Given the description of an element on the screen output the (x, y) to click on. 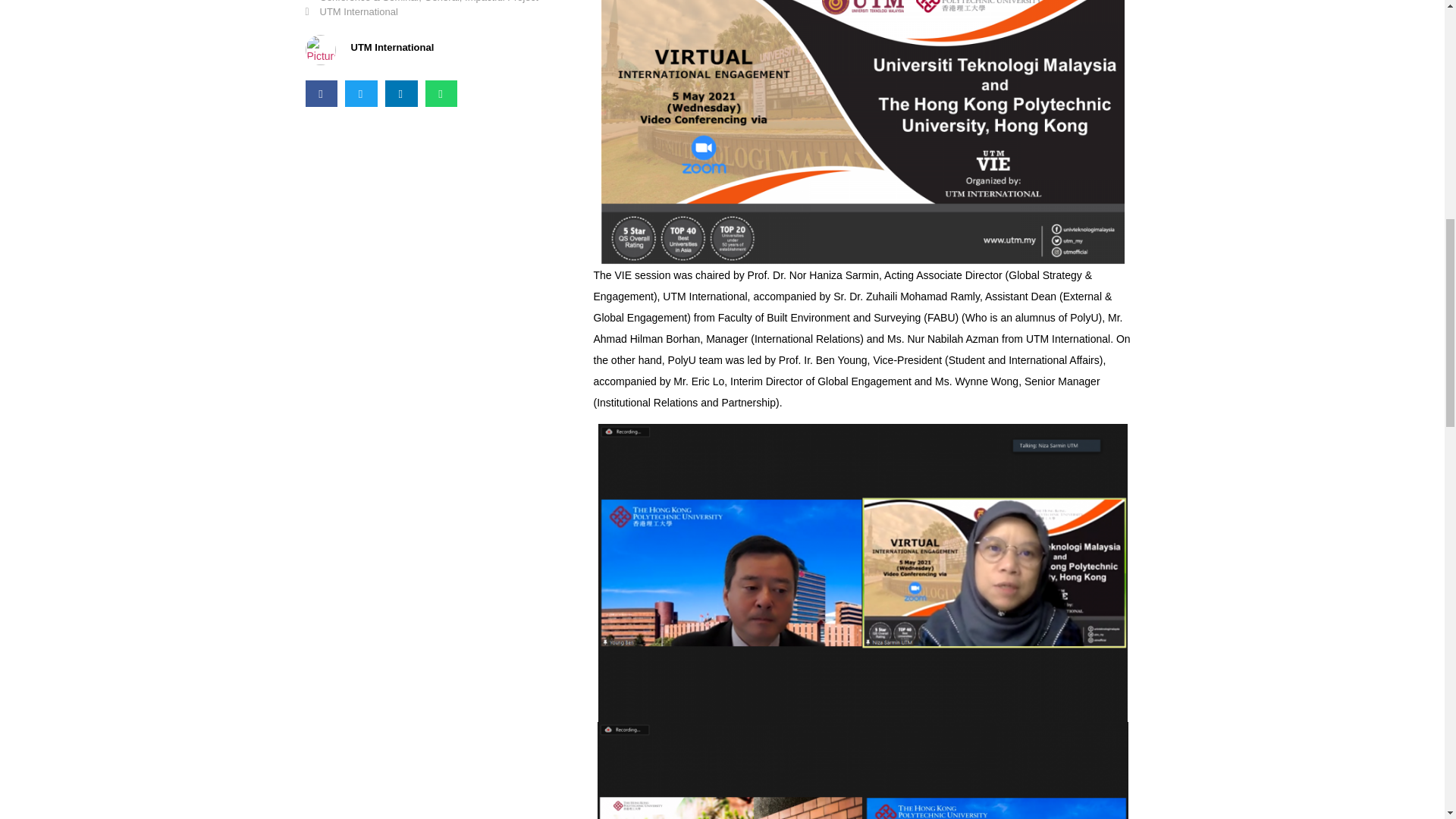
Impactful Project (501, 1)
General (442, 1)
UTM International (358, 11)
